Given the description of an element on the screen output the (x, y) to click on. 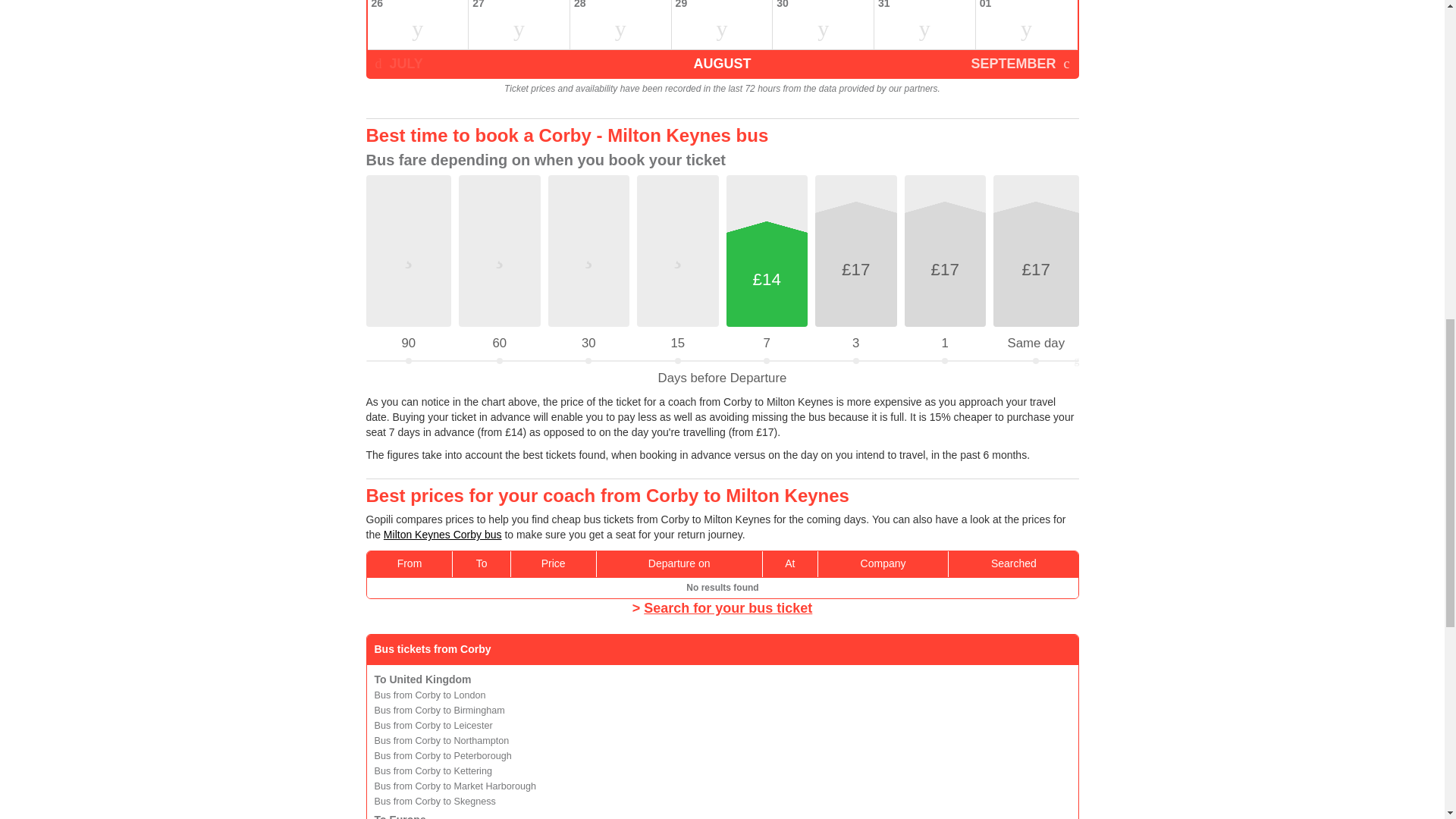
Search for your bus ticket (727, 607)
Bus from Corby to Kettering (433, 770)
Bus from Corby to Peterborough (443, 756)
Bus from Corby to Skegness (435, 801)
Bus from Corby to Northampton (441, 740)
  JULY (398, 62)
Bus from Corby to Leicester (433, 725)
Bus from Corby to London (430, 695)
Bus from Corby to Birmingham (439, 710)
Bus from Corby to Market Harborough (454, 786)
